Given the description of an element on the screen output the (x, y) to click on. 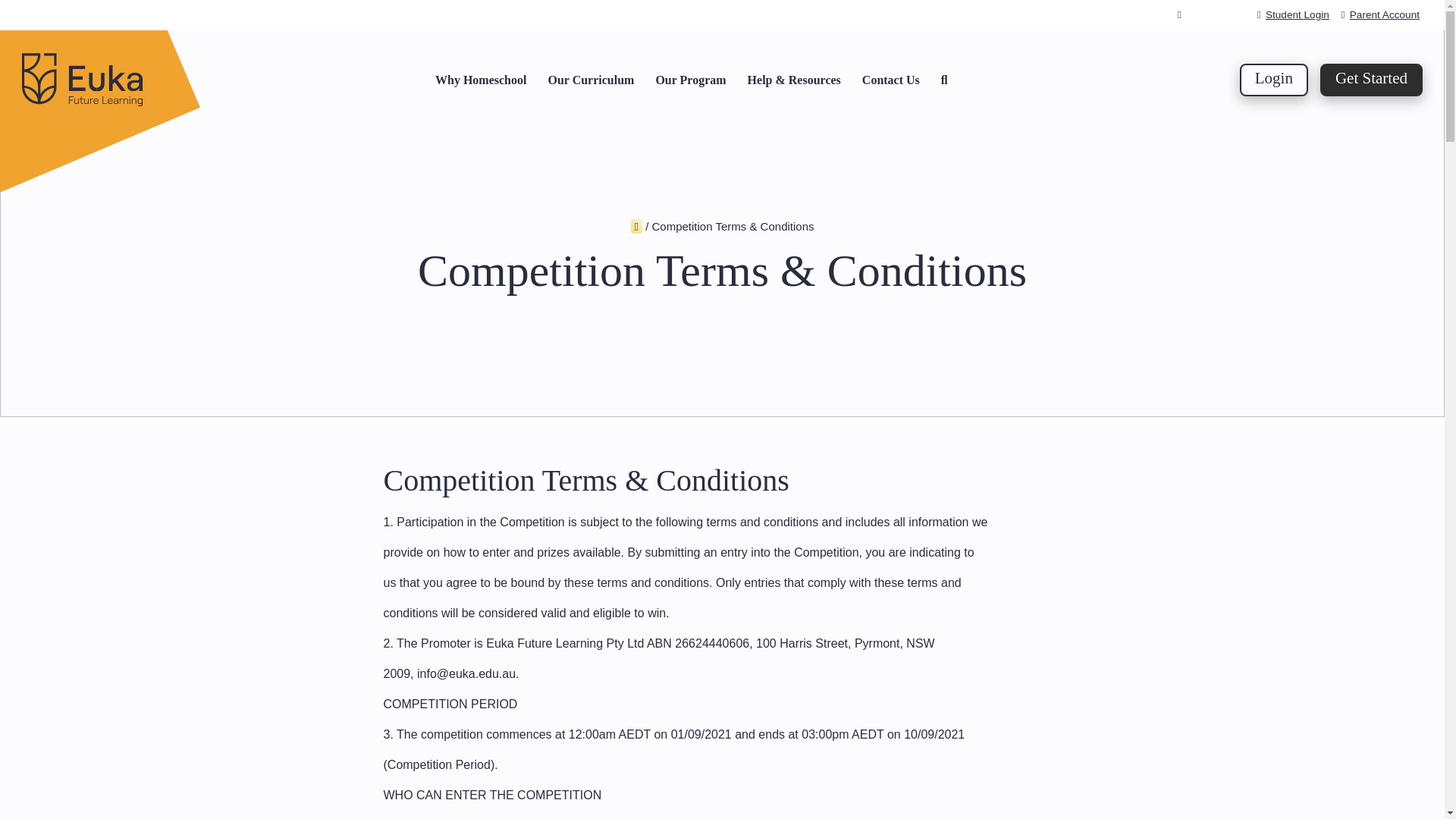
Our Curriculum (590, 80)
Student Login (1293, 14)
Our Program (690, 80)
Get Started (1371, 79)
Contact Us (890, 80)
Login (1273, 79)
Why Homeschool (480, 80)
Parent Account (1379, 14)
